Given the description of an element on the screen output the (x, y) to click on. 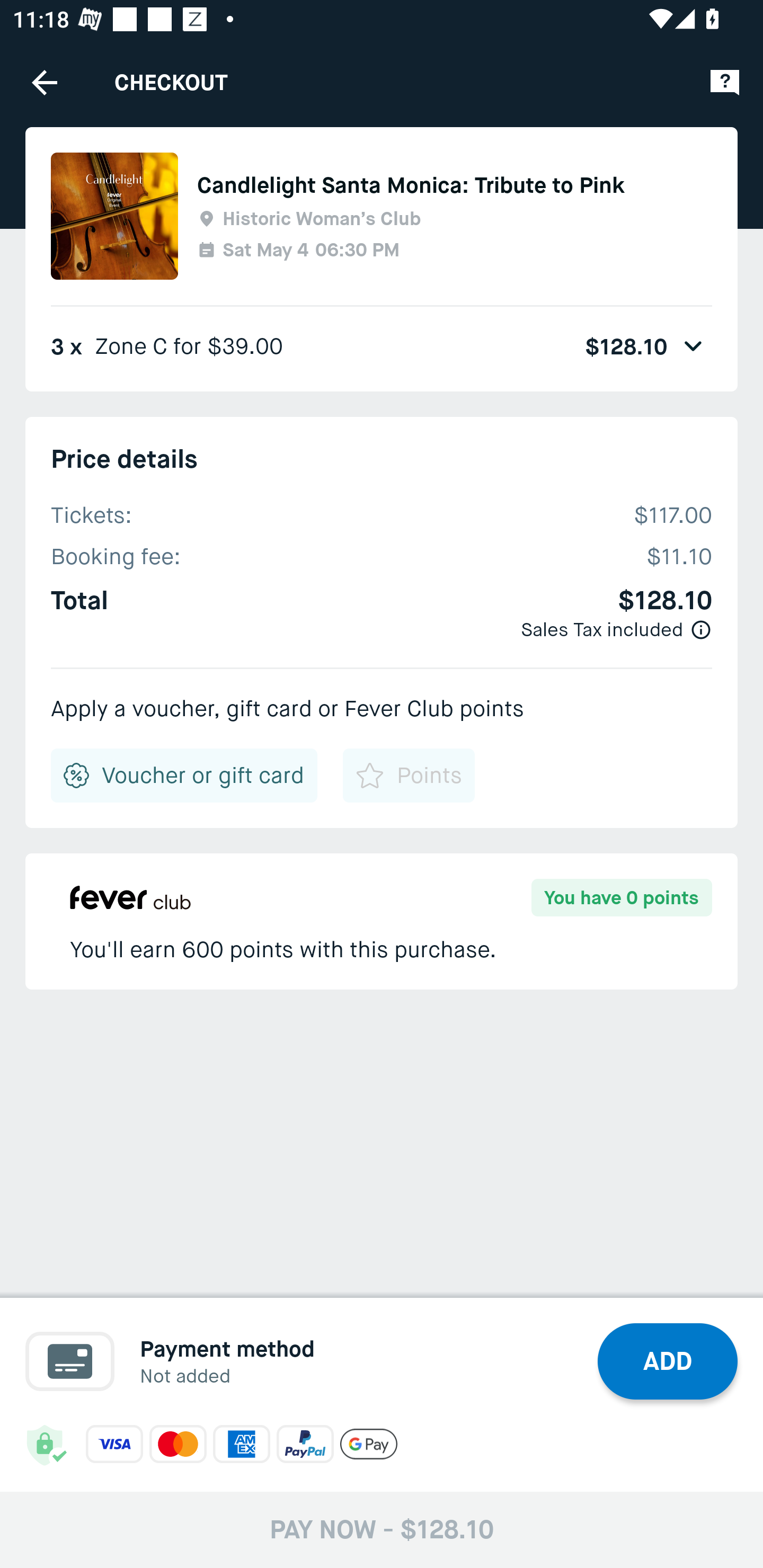
Navigate up (44, 82)
Help (724, 81)
Sales Tax included (602, 629)
Voucher or gift card (184, 774)
Points (408, 774)
ADD (667, 1361)
PAY NOW - $128.10 (381, 1529)
